Given the description of an element on the screen output the (x, y) to click on. 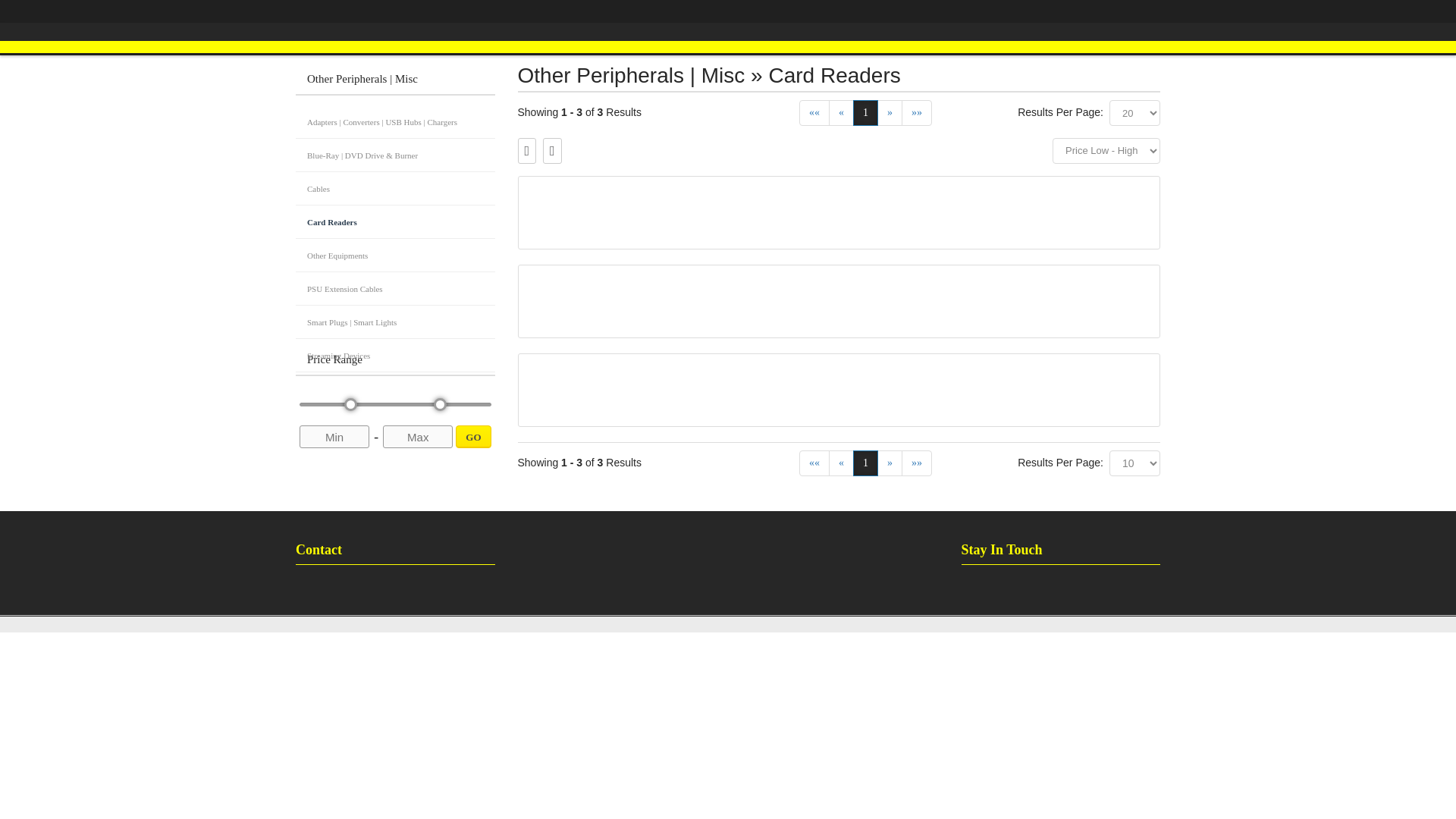
2500 (395, 404)
Last Page (395, 414)
7500 (916, 462)
First Page (395, 404)
First Page (814, 112)
Last Page (814, 462)
